Given the description of an element on the screen output the (x, y) to click on. 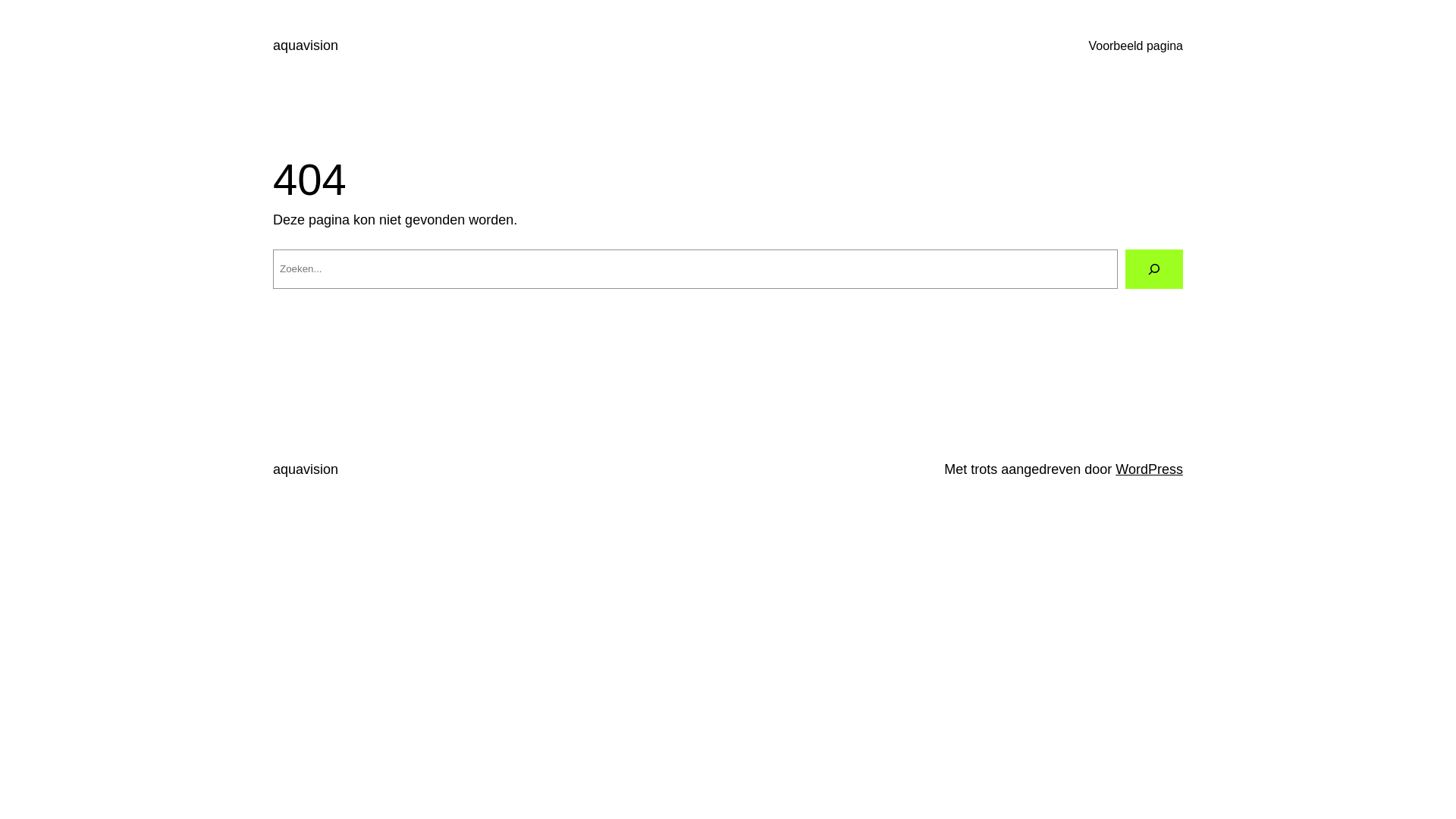
WordPress Element type: text (1149, 468)
Voorbeeld pagina Element type: text (1135, 46)
aquavision Element type: text (305, 45)
aquavision Element type: text (305, 468)
